Given the description of an element on the screen output the (x, y) to click on. 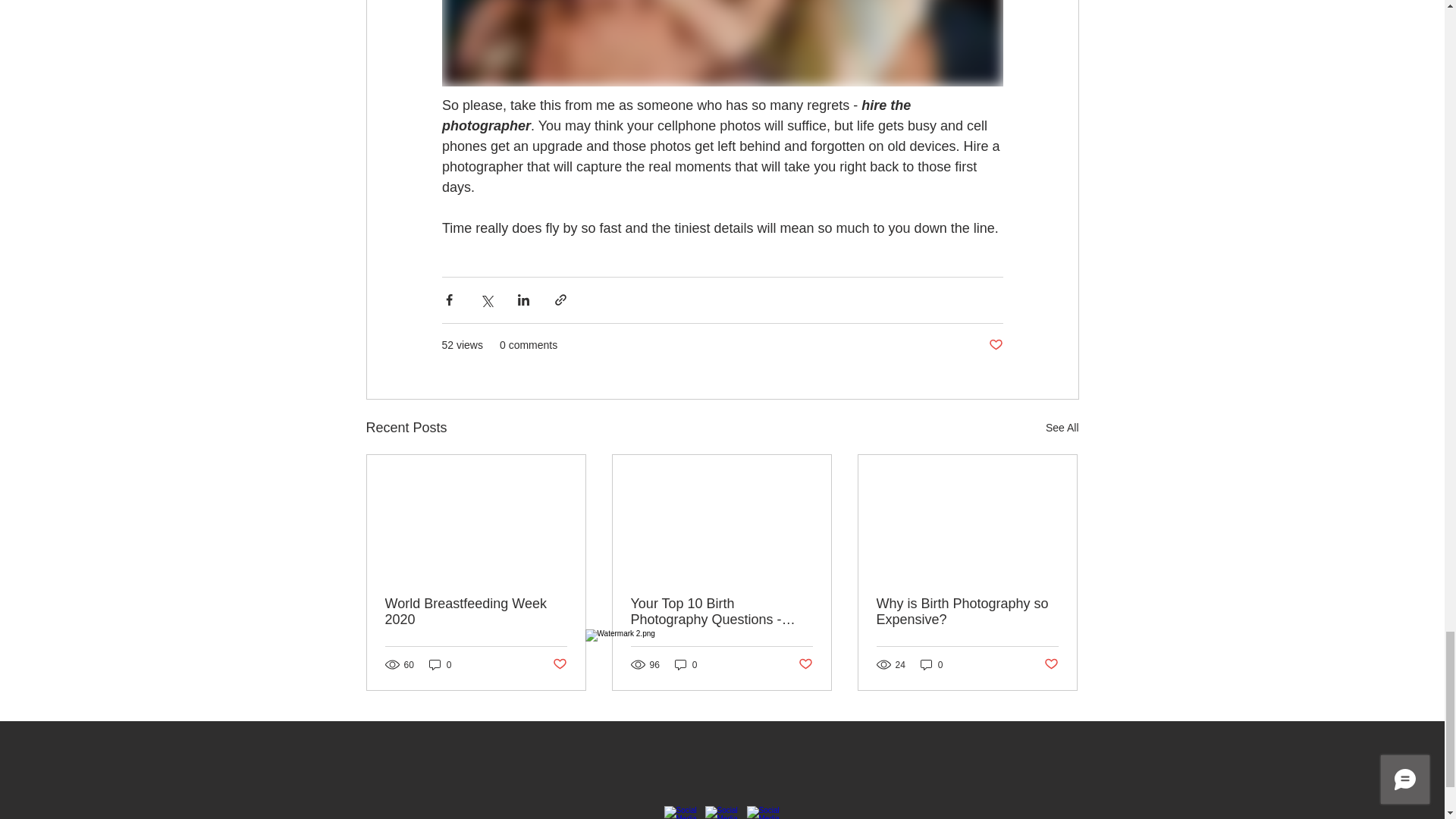
Your Top 10 Birth Photography Questions - Answered (721, 612)
Post not marked as liked (1050, 664)
0 (931, 664)
0 (440, 664)
Post not marked as liked (995, 344)
Post not marked as liked (558, 664)
0 (685, 664)
See All (1061, 427)
World Breastfeeding Week 2020 (476, 612)
Why is Birth Photography so Expensive? (967, 612)
Post not marked as liked (804, 664)
